Given the description of an element on the screen output the (x, y) to click on. 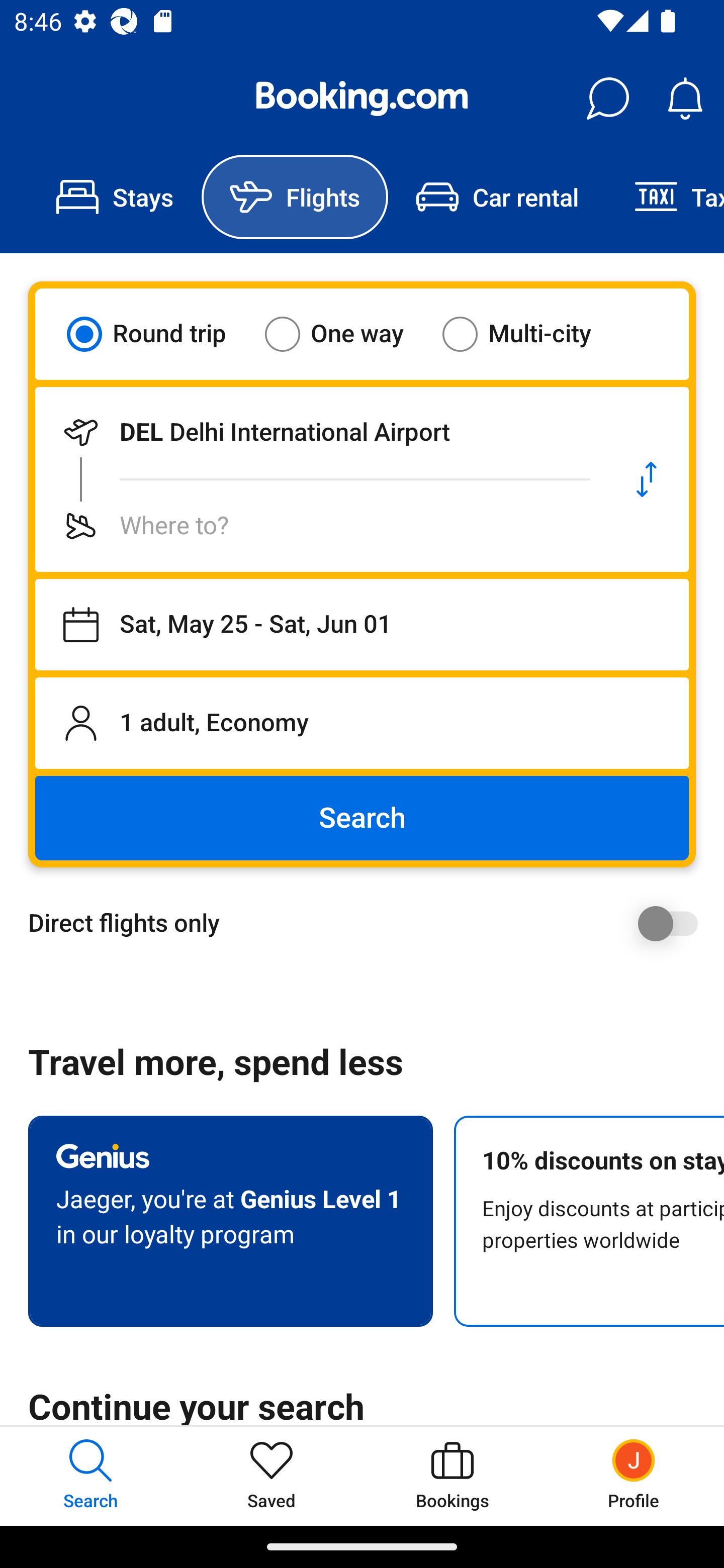
Messages (607, 98)
Notifications (685, 98)
Stays (114, 197)
Flights (294, 197)
Car rental (497, 197)
Taxi (665, 197)
One way (346, 333)
Multi-city (528, 333)
Departing from DEL Delhi International Airport (319, 432)
Swap departure location and destination (646, 479)
Flying to  (319, 525)
Departing on Sat, May 25, returning on Sat, Jun 01 (361, 624)
1 adult, Economy (361, 722)
Search (361, 818)
Direct flights only (369, 923)
Saved (271, 1475)
Bookings (452, 1475)
Profile (633, 1475)
